Given the description of an element on the screen output the (x, y) to click on. 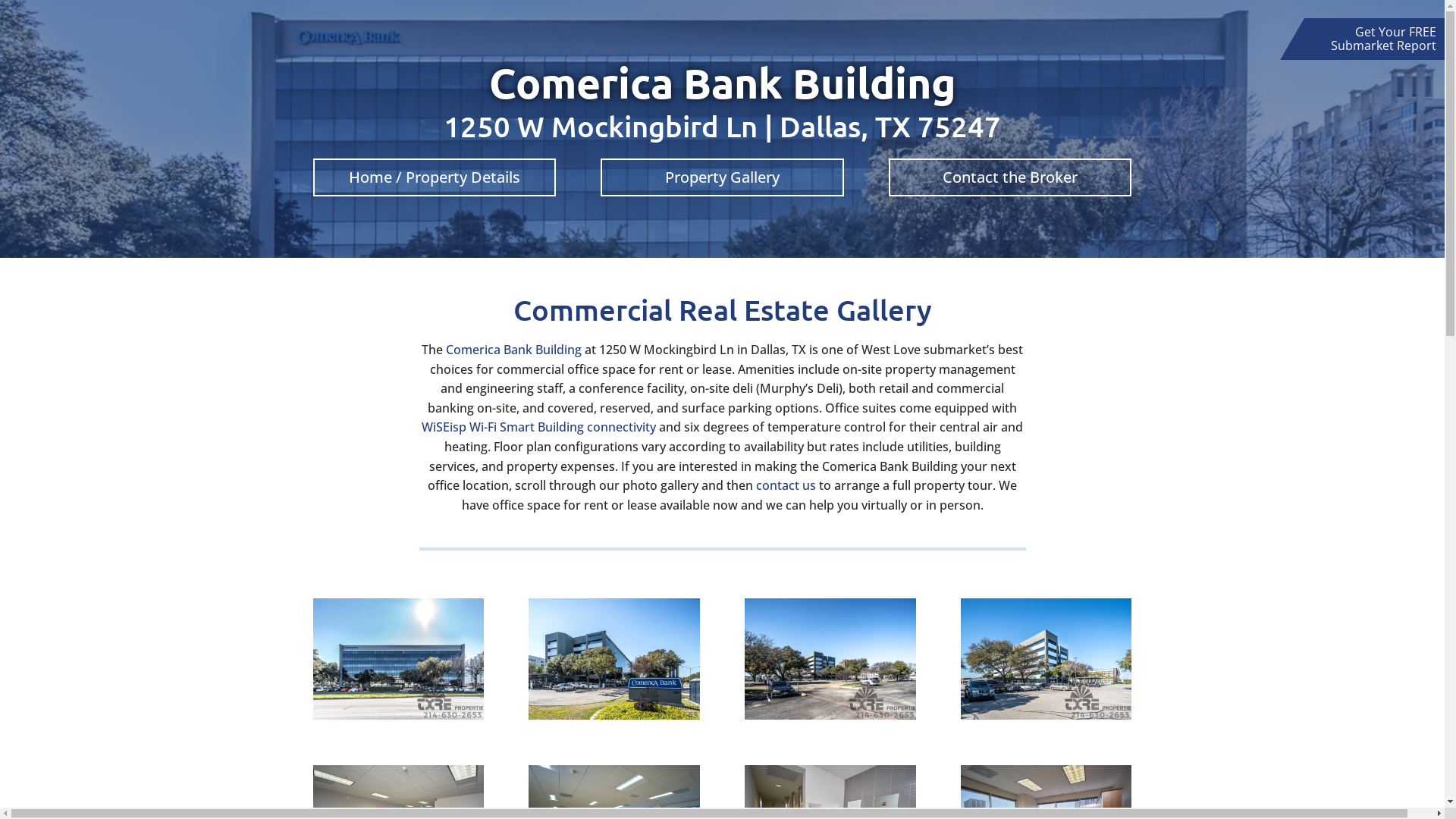
Get Your FREE
Submarket Report Element type: text (1383, 38)
contact us Element type: text (785, 484)
Contact the Broker Element type: text (1009, 177)
WiSEisp Wi-Fi Smart Building connectivity Element type: text (538, 426)
Home / Property Details Element type: text (433, 177)
Property Gallery Element type: text (721, 177)
Comerica Bank Building Element type: text (513, 349)
